Given the description of an element on the screen output the (x, y) to click on. 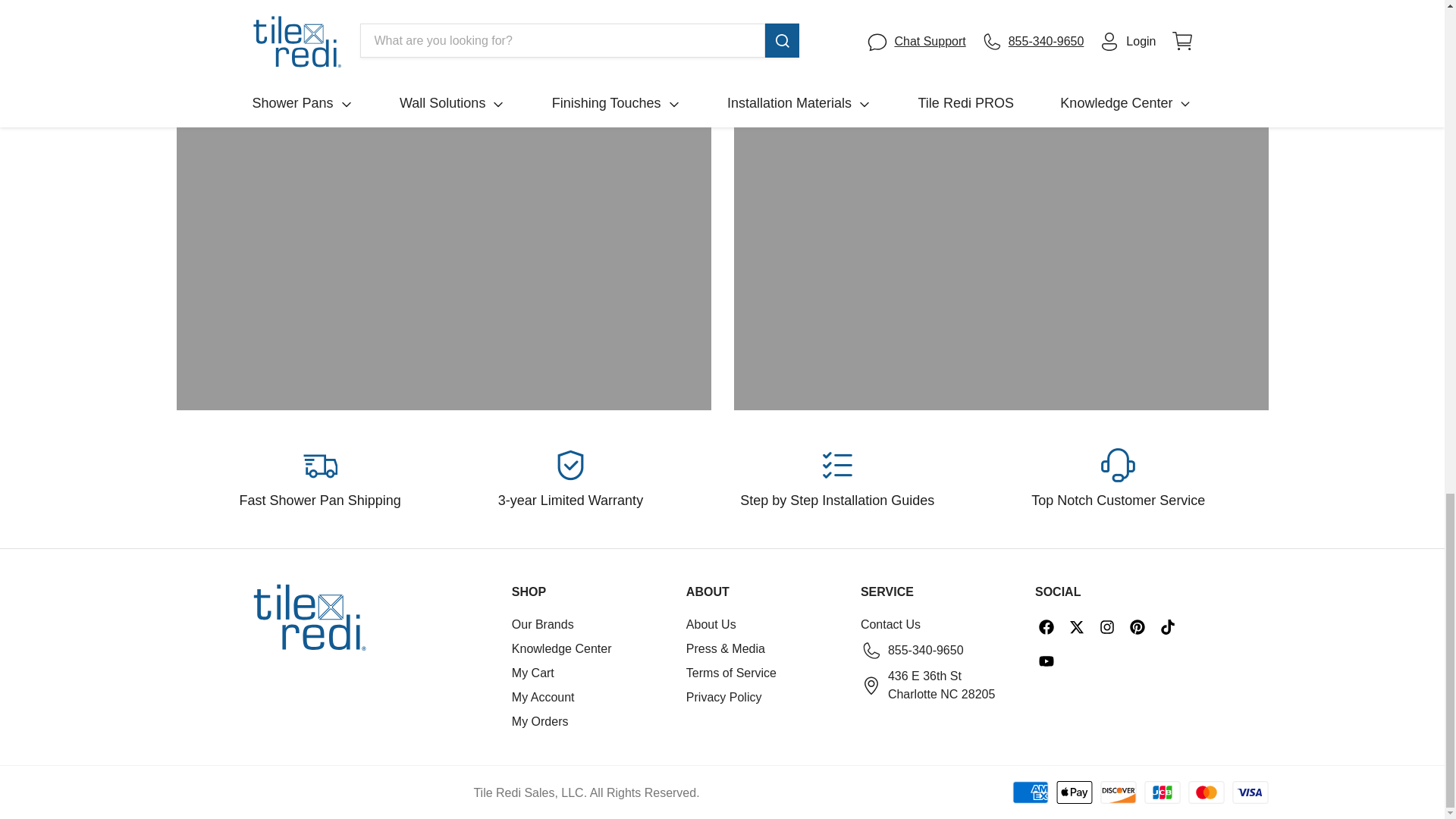
Instagram (1107, 626)
Facebook (1046, 626)
YouTube (1046, 661)
Pinterest (1136, 626)
TikTok (1167, 626)
Twitter (1076, 626)
